Given the description of an element on the screen output the (x, y) to click on. 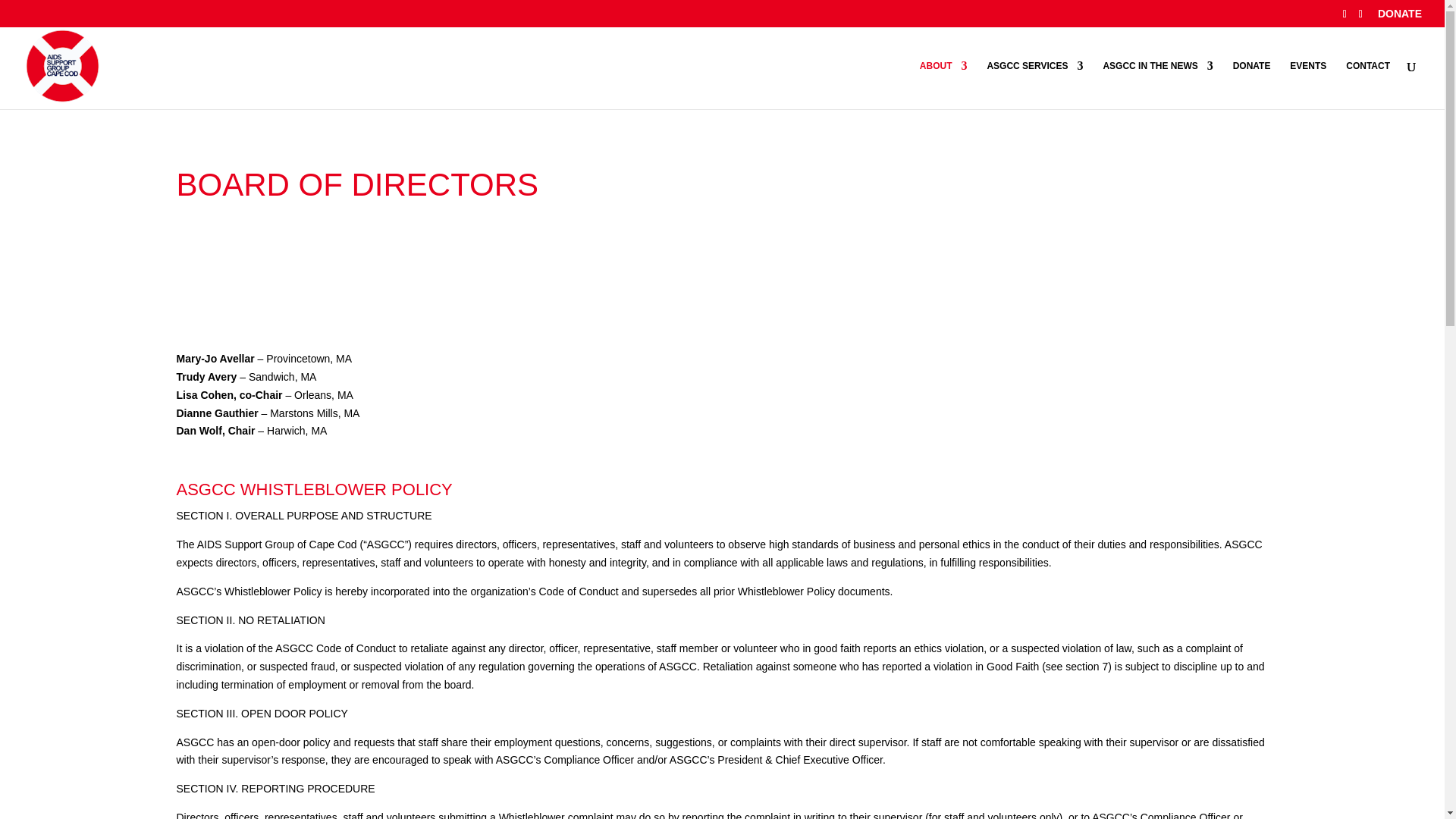
ASGCC SERVICES (1035, 84)
ASGCC IN THE NEWS (1157, 84)
CONTACT (1367, 84)
DONATE (1399, 16)
ABOUT (944, 84)
